Given the description of an element on the screen output the (x, y) to click on. 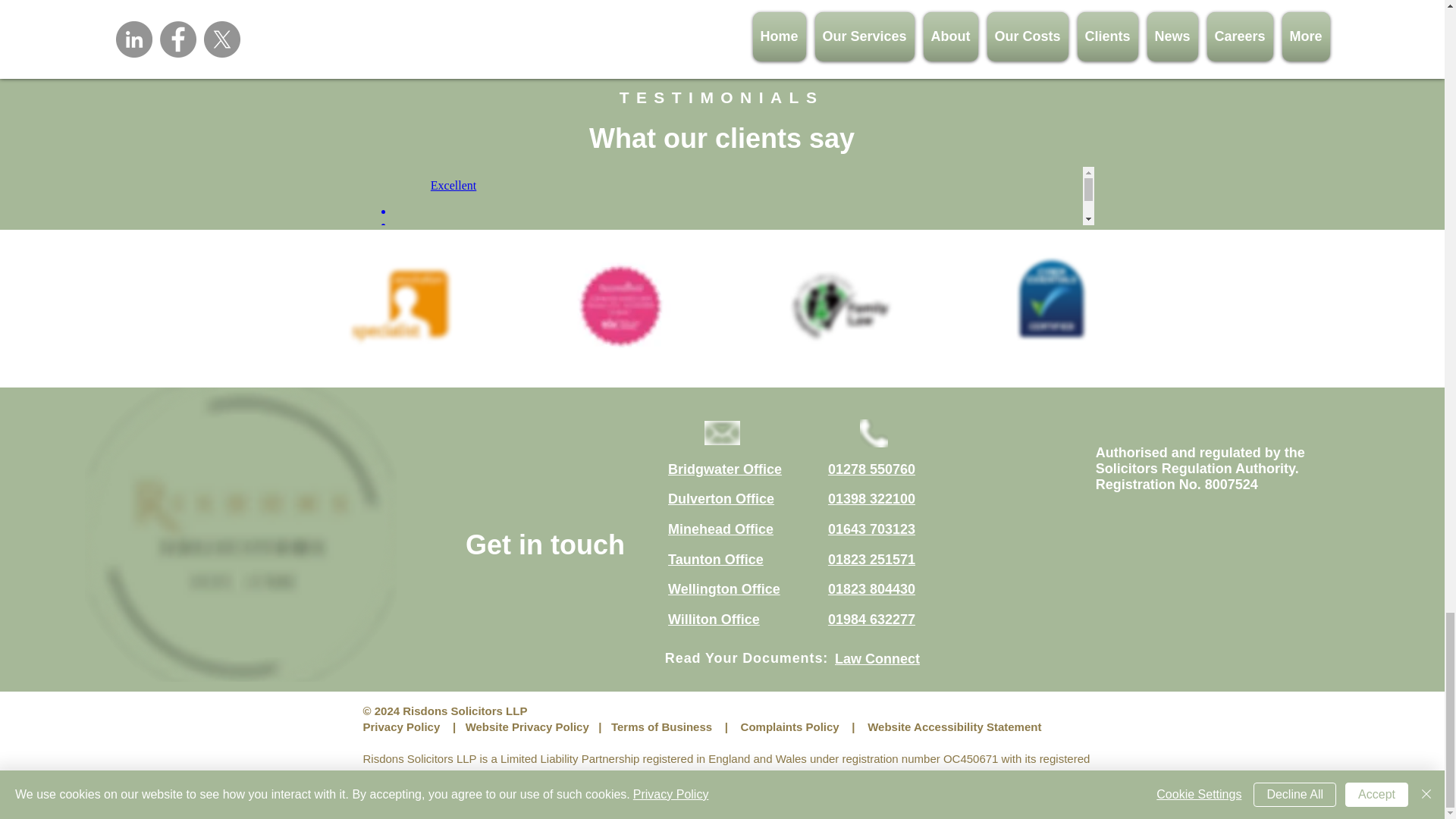
Dulverton Office (721, 498)
01398 322100 (871, 498)
Williton Office (714, 619)
01643 703123 (871, 529)
Wellington Office (724, 589)
01823 251571 (871, 559)
Bridgwater Office (724, 468)
Embedded Content (1199, 566)
Taunton Office (715, 559)
Embedded Content (721, 196)
Minehead Office (720, 529)
01278 550760 (871, 468)
